Given the description of an element on the screen output the (x, y) to click on. 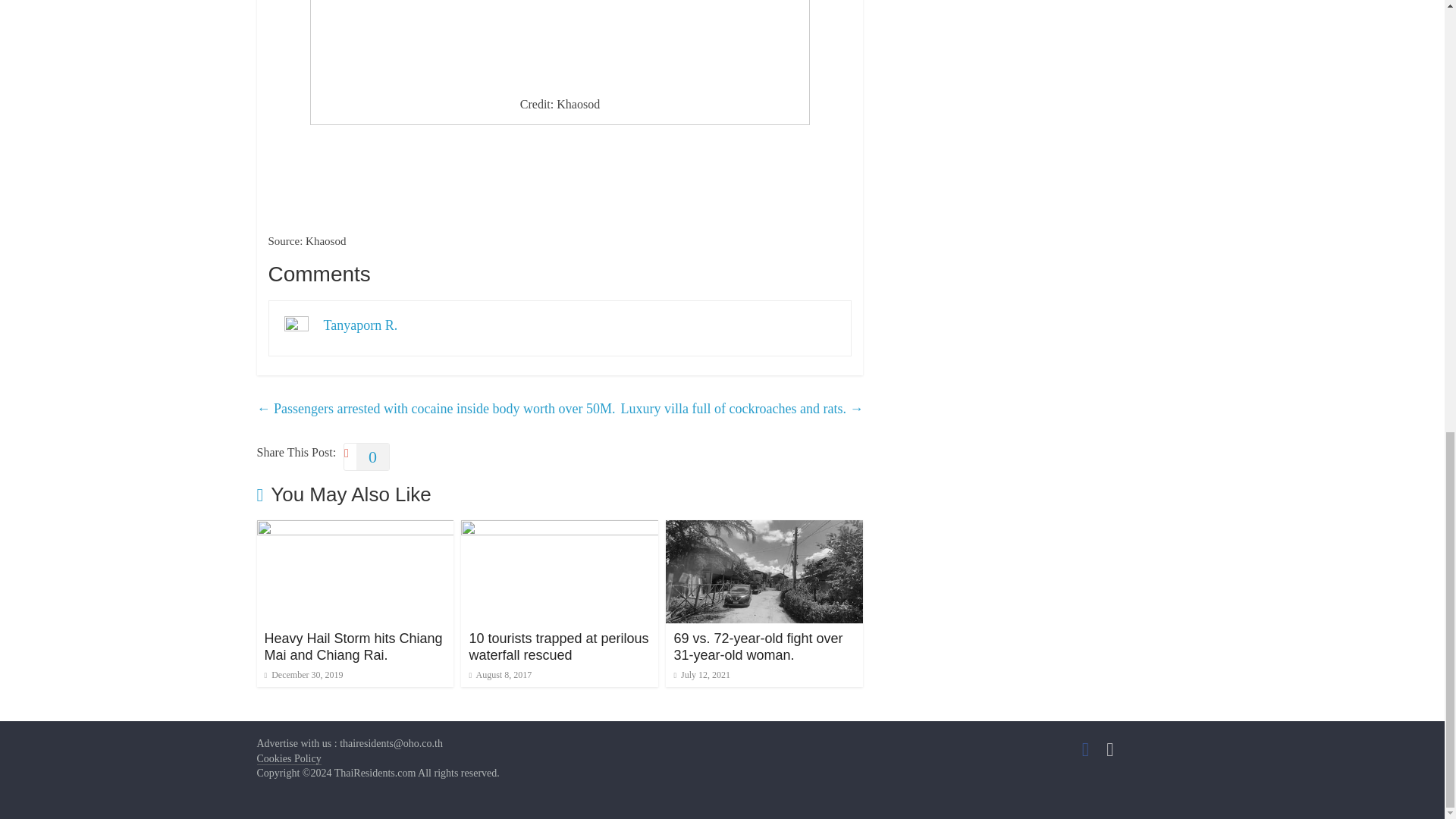
Heavy Hail Storm hits Chiang Mai and Chiang Rai. (354, 529)
Heavy Hail Storm hits Chiang Mai and Chiang Rai. (352, 646)
7:21 am (302, 674)
10 tourists trapped at perilous waterfall rescued (557, 646)
10 tourists trapped at perilous waterfall rescued (559, 529)
5:20 am (499, 674)
